Given the description of an element on the screen output the (x, y) to click on. 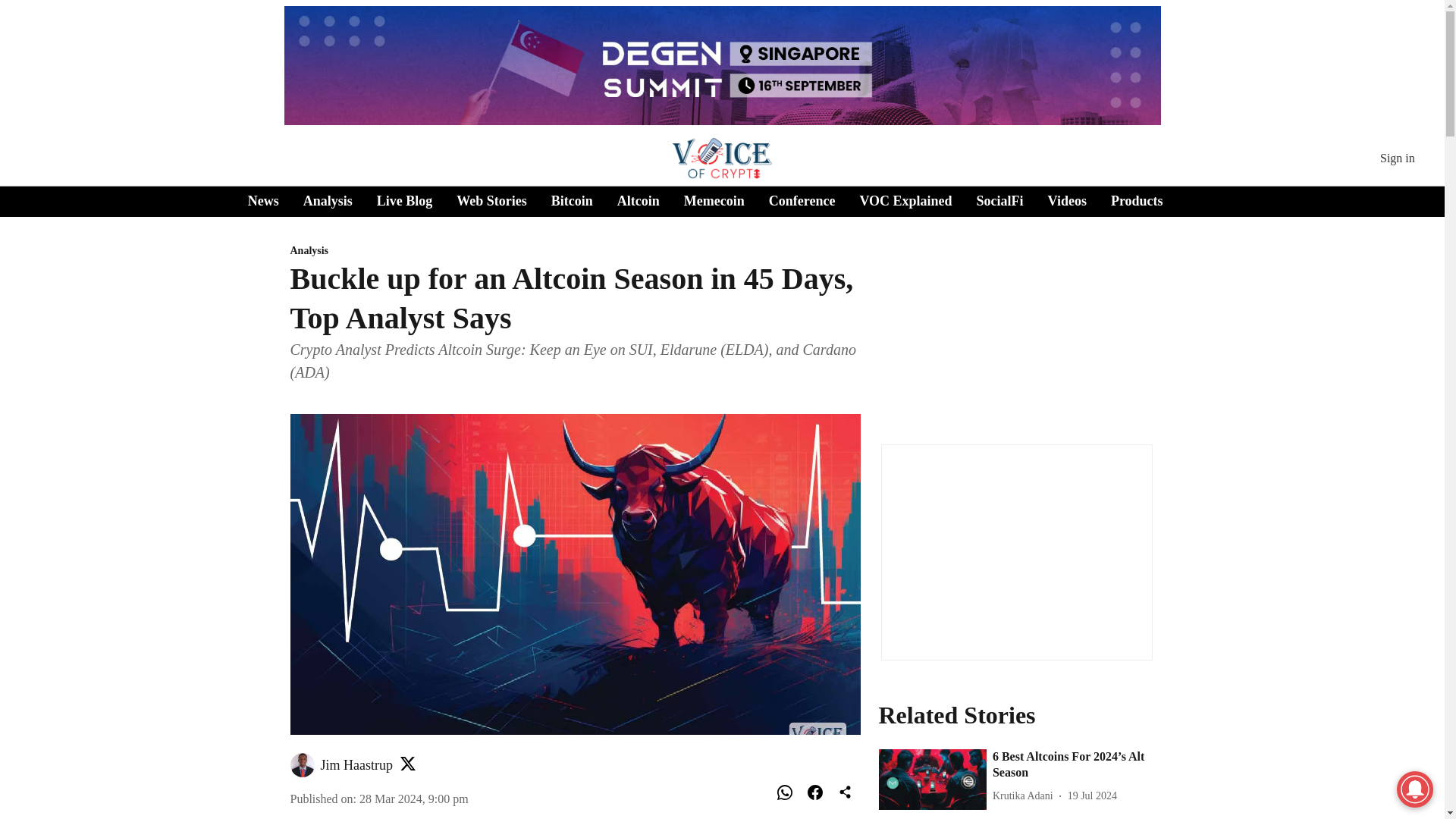
News (263, 200)
Analysis (574, 251)
Bitcoin (571, 200)
Videos (1067, 200)
Altcoin (638, 200)
VOC Explained (905, 200)
SocialFi (999, 200)
Web Stories (492, 200)
2024-07-19 11:00 (1091, 795)
Dark Mode (1415, 201)
2024-03-28 13:00 (413, 798)
Jim Haastrup (355, 765)
Conference (801, 200)
Analysis (327, 200)
